Given the description of an element on the screen output the (x, y) to click on. 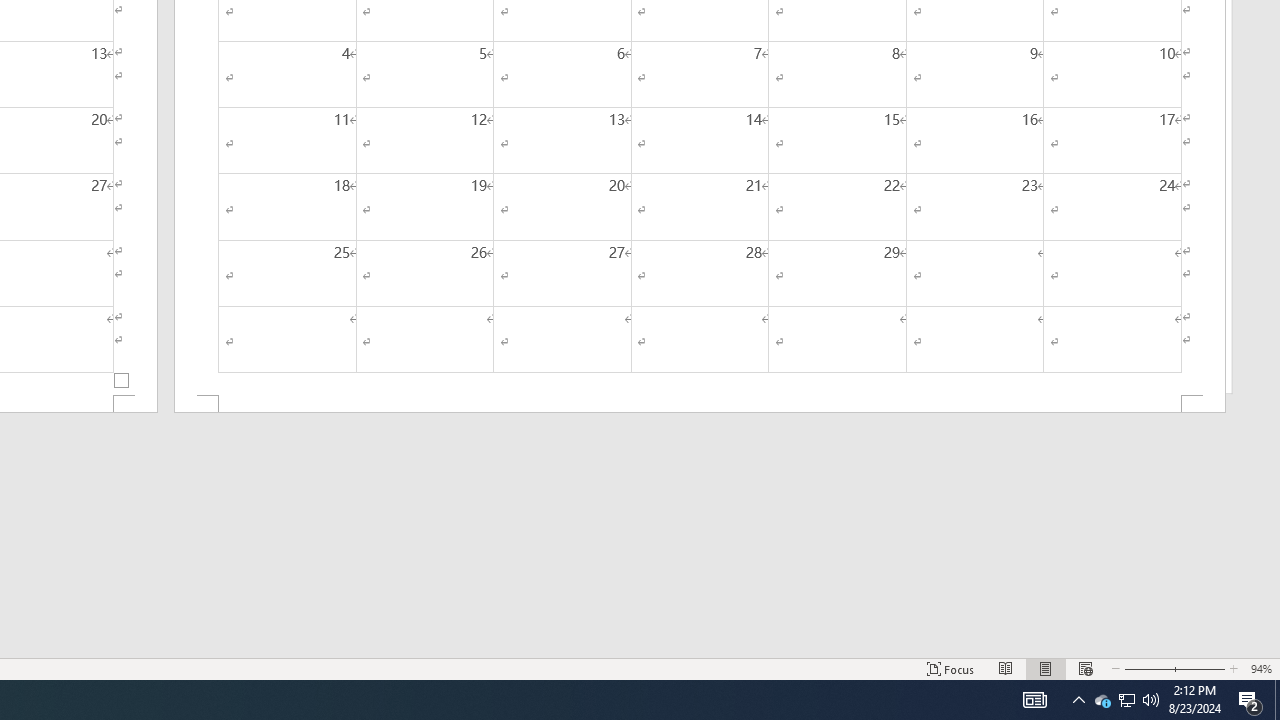
Footer -Section 2- (700, 404)
